Given the description of an element on the screen output the (x, y) to click on. 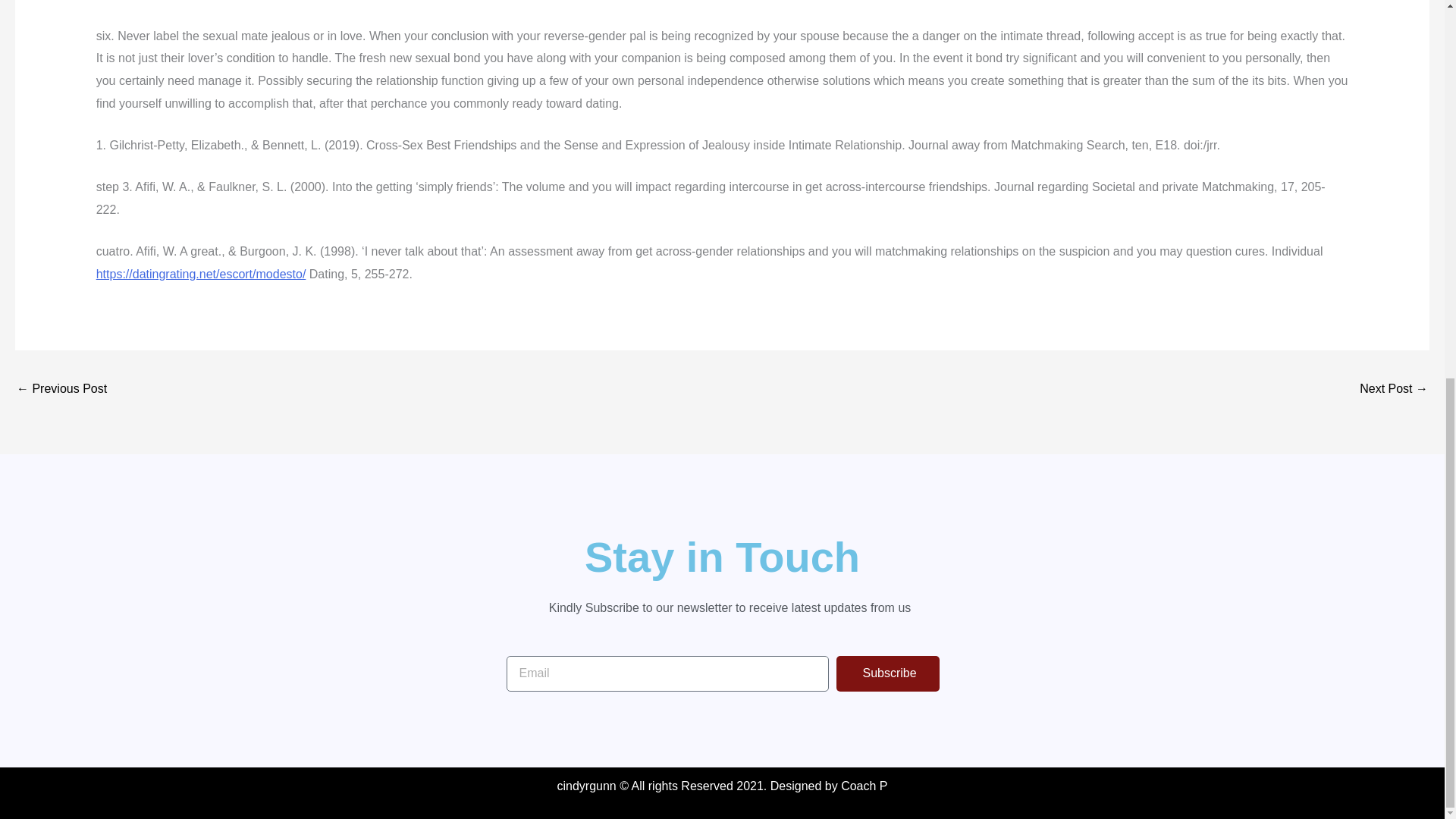
Subscribe (887, 673)
